Given the description of an element on the screen output the (x, y) to click on. 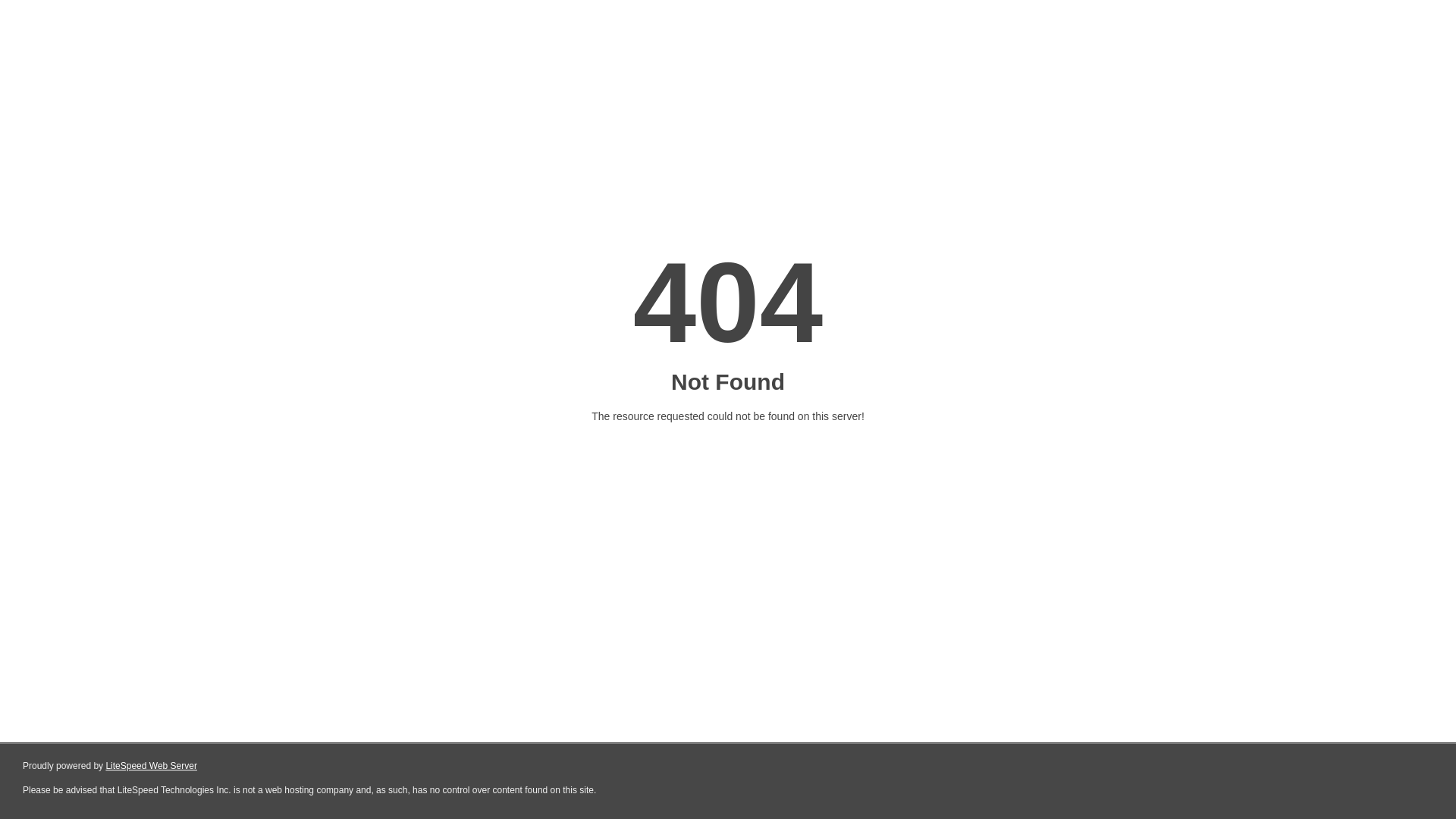
LiteSpeed Web Server Element type: text (151, 765)
